Given the description of an element on the screen output the (x, y) to click on. 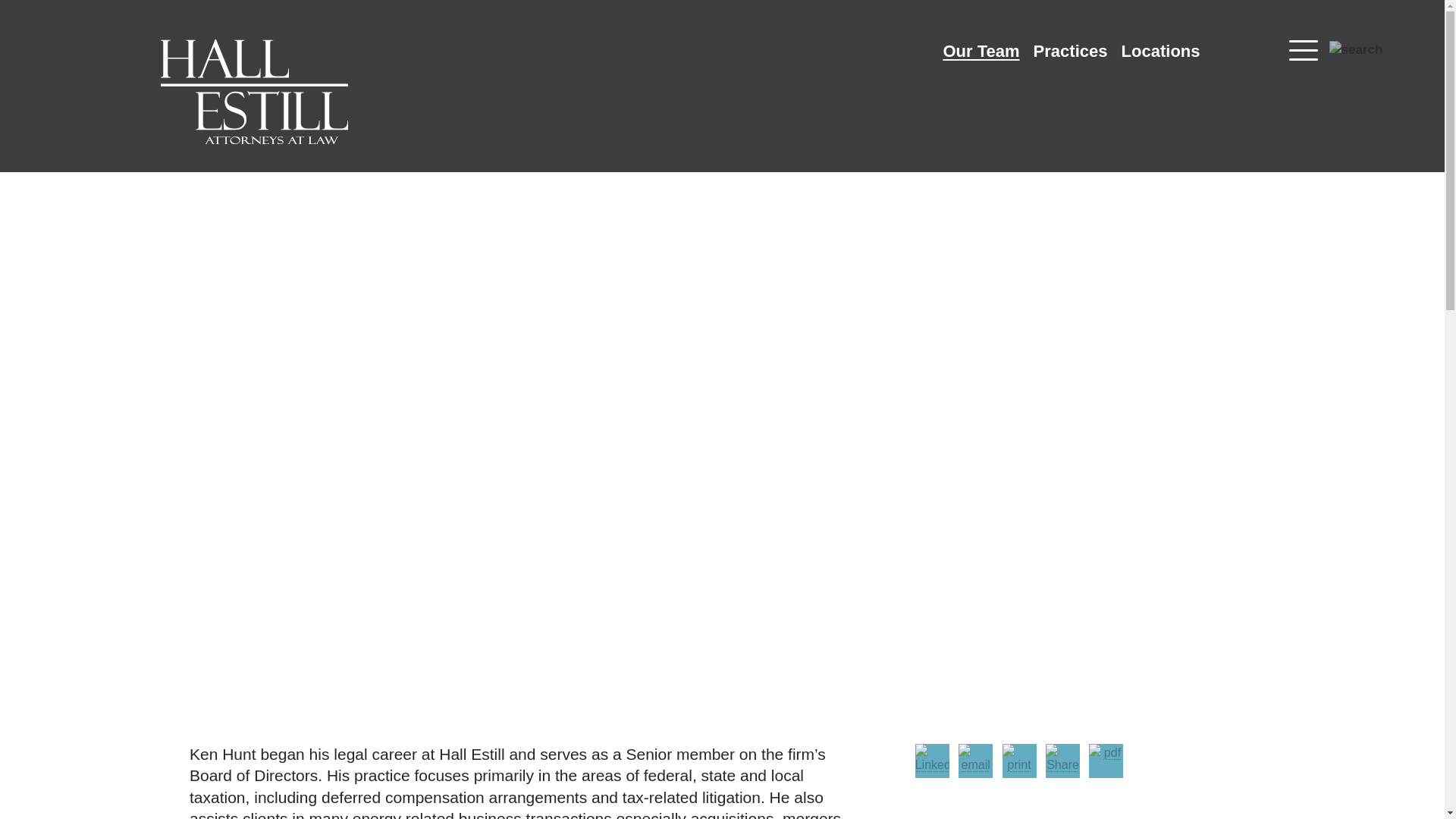
Locations (1160, 52)
Our Team (980, 52)
Practices (1070, 52)
